Given the description of an element on the screen output the (x, y) to click on. 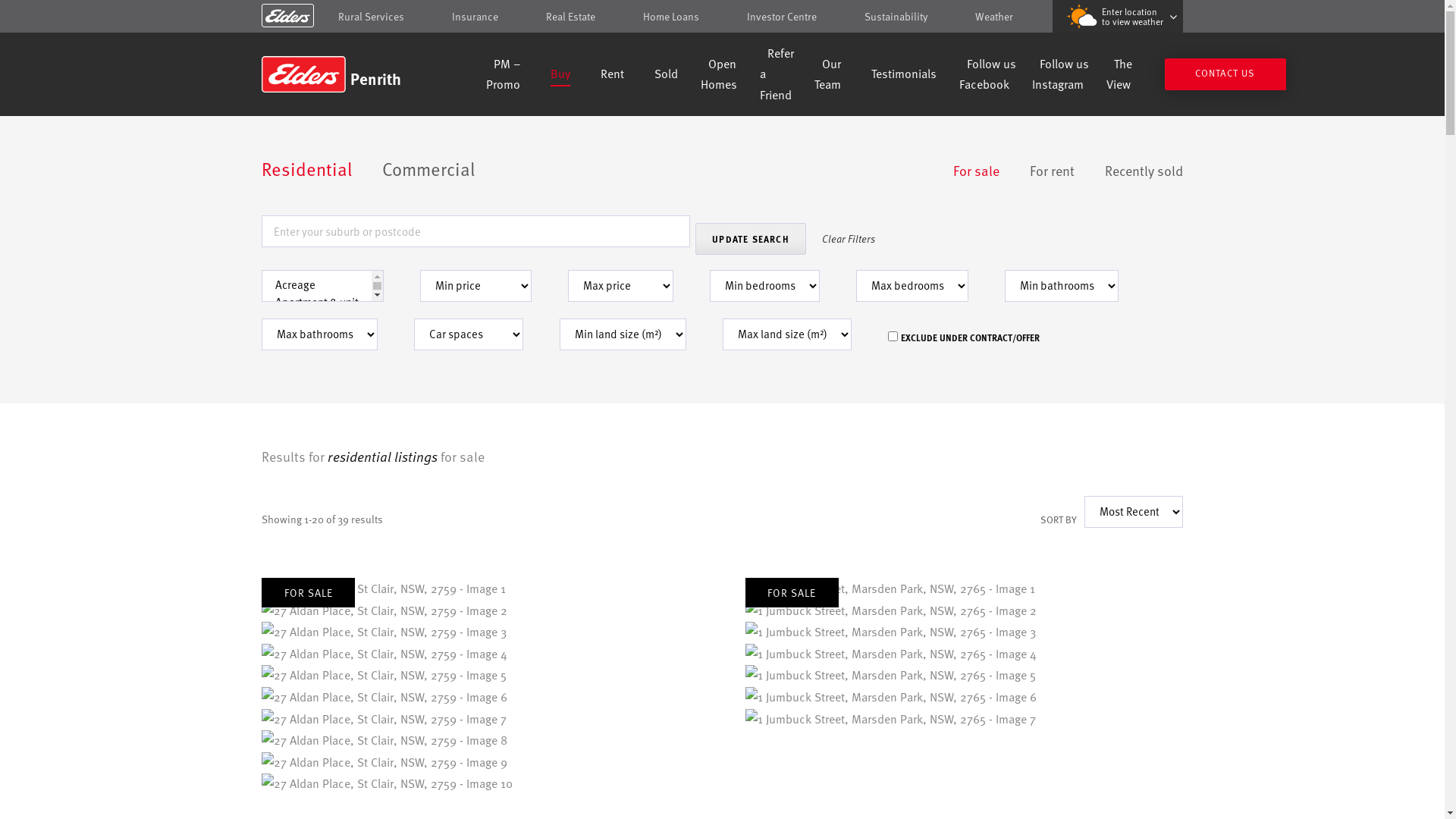
Buy Element type: text (560, 75)
Residential Element type: text (306, 169)
Sustainability Element type: text (895, 16)
Weather Element type: text (994, 16)
The View Element type: text (1119, 75)
Insurance Element type: text (474, 16)
Update Search Element type: text (750, 238)
Recently sold Element type: text (1143, 170)
Sold Element type: text (665, 75)
Home Loans Element type: text (671, 16)
Enter location to view weather Element type: text (1117, 16)
Testimonials Element type: text (903, 75)
Rural Services Element type: text (371, 16)
Our Team Element type: text (827, 75)
Open Homes Element type: text (718, 75)
Follow us Instagram Element type: text (1060, 75)
CONTACT US Element type: text (1225, 74)
Rent Element type: text (612, 75)
For rent Element type: text (1051, 170)
Follow us Facebook Element type: text (987, 75)
Commercial Element type: text (428, 169)
Clear Filters Element type: text (847, 238)
Penrith Element type: text (369, 74)
Refer a Friend Element type: text (776, 74)
For sale Element type: text (976, 170)
Investor Centre Element type: text (781, 16)
Skip to content Element type: text (722, 17)
Real Estate Element type: text (570, 16)
